Given the description of an element on the screen output the (x, y) to click on. 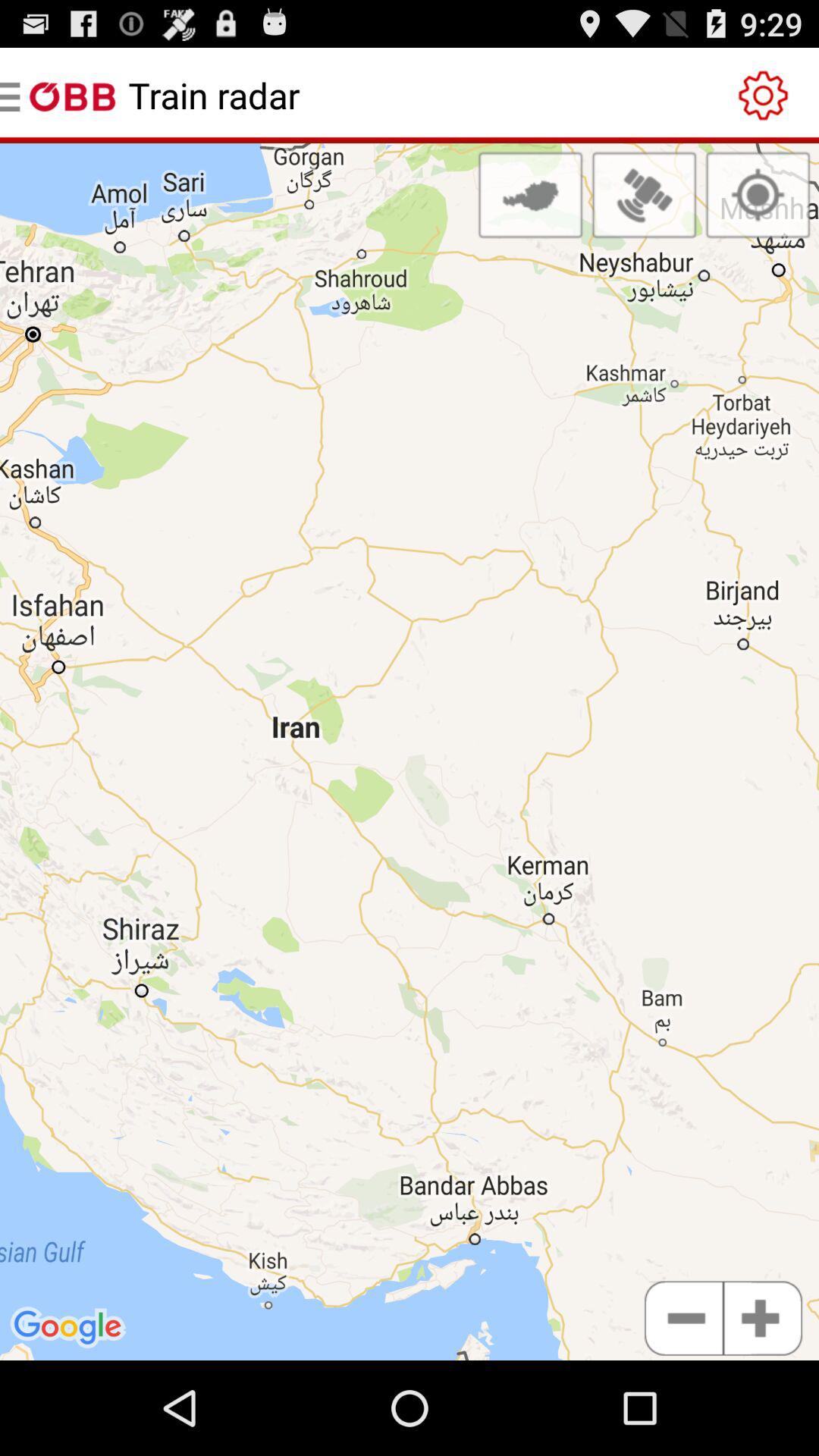
choose icon at the center (409, 751)
